Given the description of an element on the screen output the (x, y) to click on. 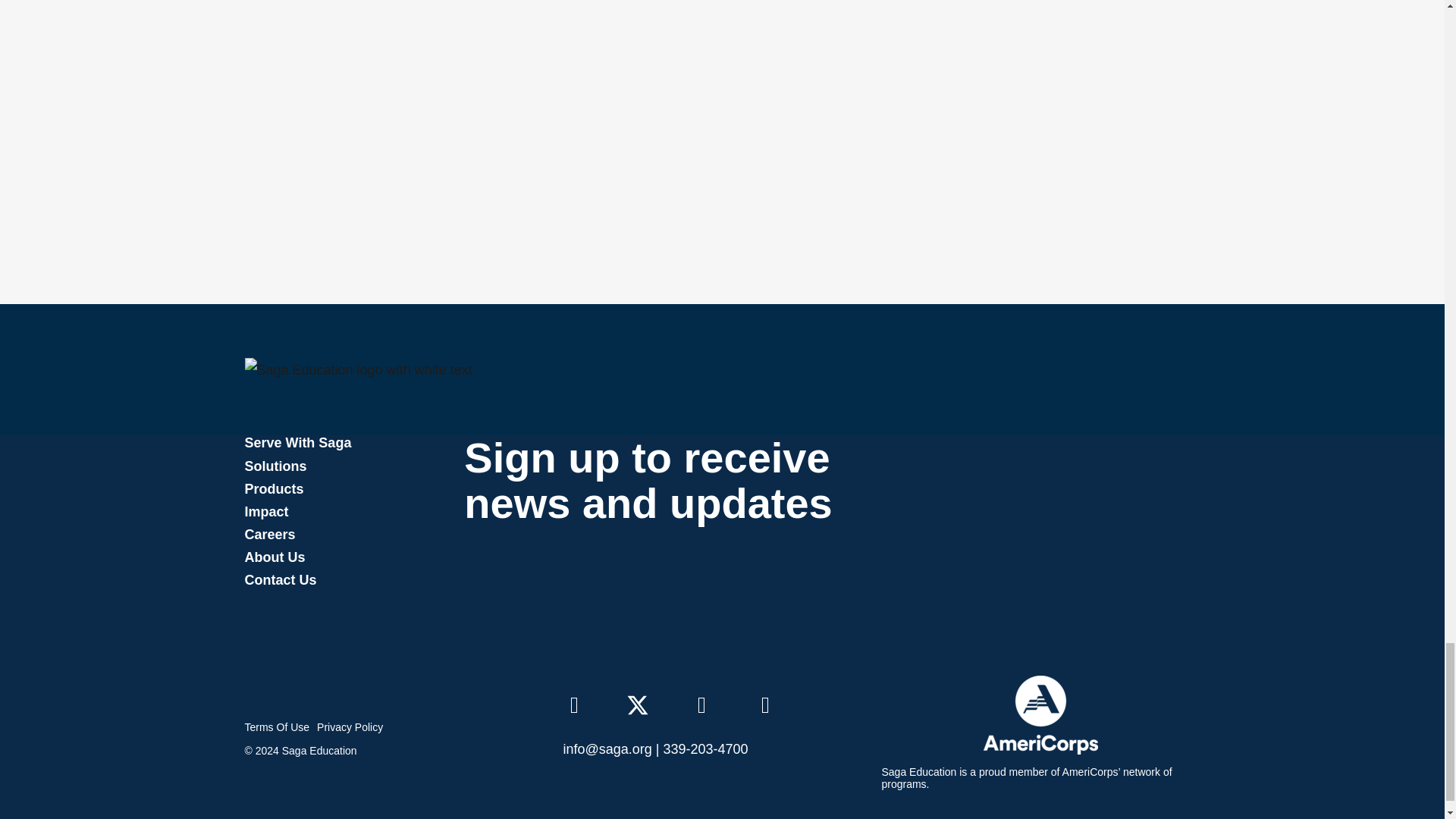
saga-logo-footer (357, 369)
